Given the description of an element on the screen output the (x, y) to click on. 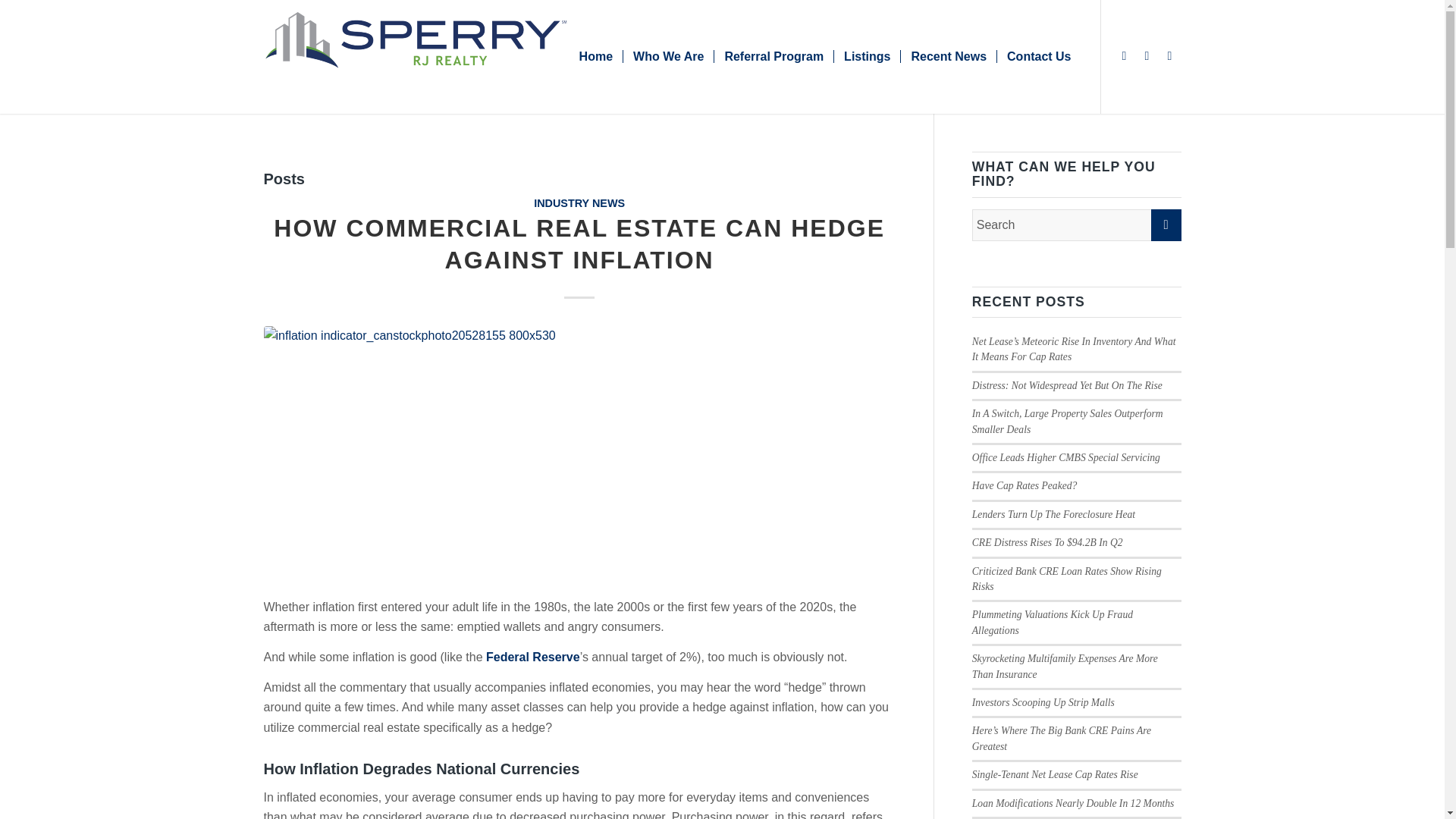
Criticized Bank CRE Loan Rates Show Rising Risks (1066, 578)
INDUSTRY NEWS (579, 203)
Single-Tenant Net Lease Cap Rates Rise (1055, 774)
Have Cap Rates Peaked? (1024, 485)
Referral Program (772, 56)
Mail (1169, 56)
Skyrocketing Multifamily Expenses Are More Than Insurance (1064, 665)
In A Switch, Large Property Sales Outperform Smaller Deals (1067, 420)
Lenders Turn Up The Foreclosure Heat (1053, 514)
